Given the description of an element on the screen output the (x, y) to click on. 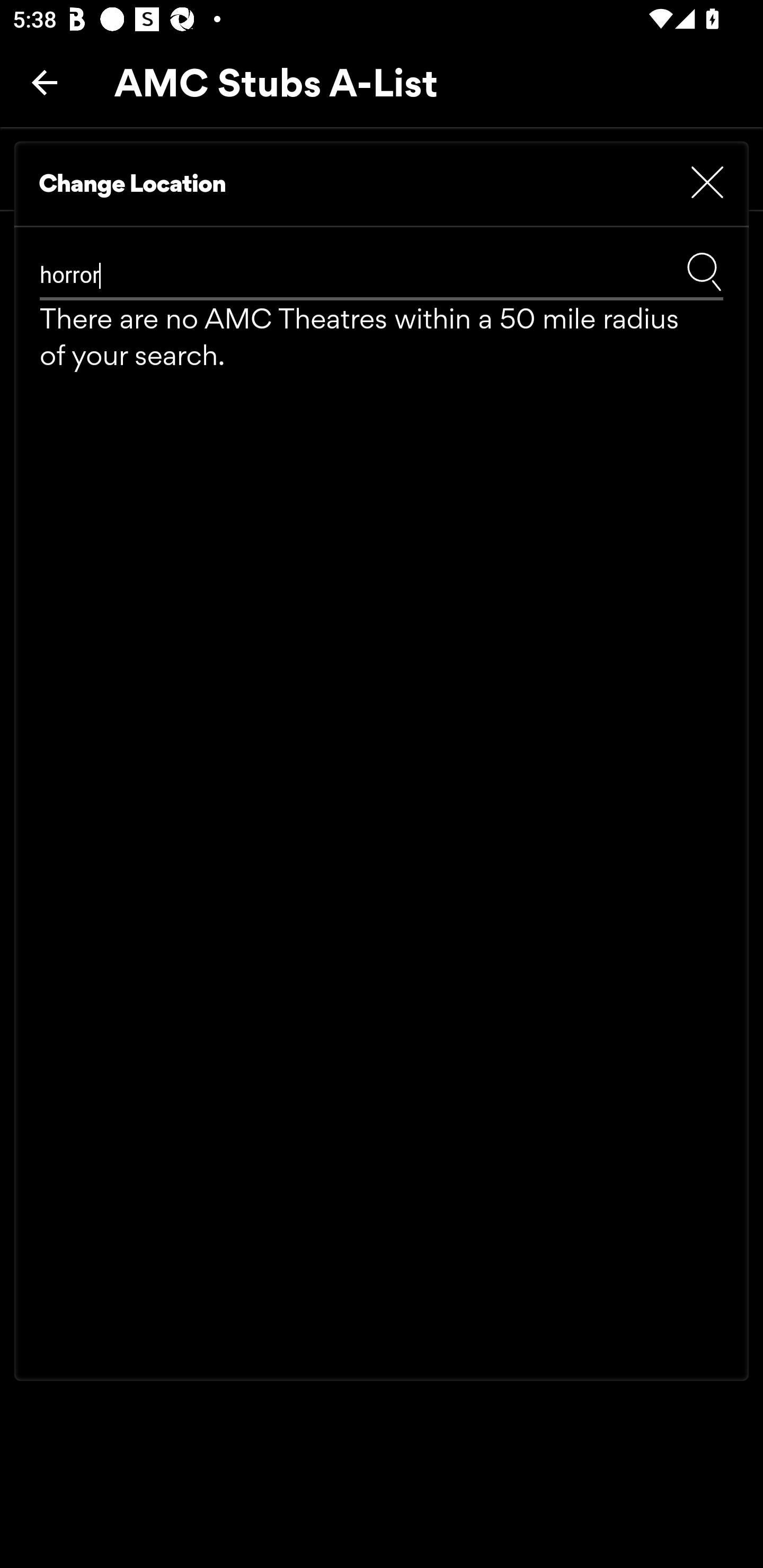
Back (44, 82)
close (707, 183)
horror (314, 274)
Submit Search (704, 271)
